Given the description of an element on the screen output the (x, y) to click on. 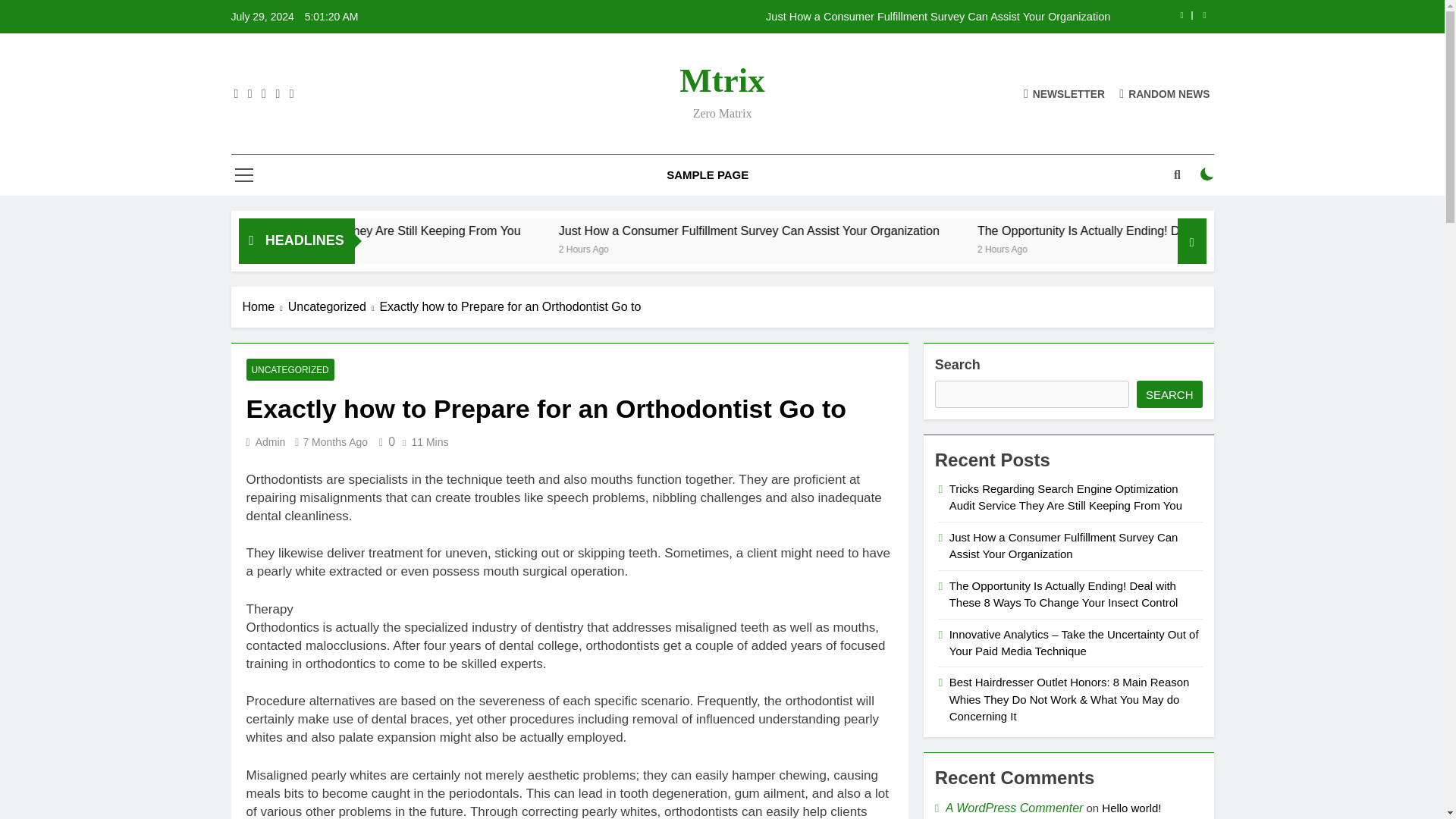
SAMPLE PAGE (707, 174)
2 Hours Ago (819, 247)
Mtrix (721, 80)
NEWSLETTER (1064, 92)
RANDOM NEWS (1164, 92)
on (1206, 173)
